Given the description of an element on the screen output the (x, y) to click on. 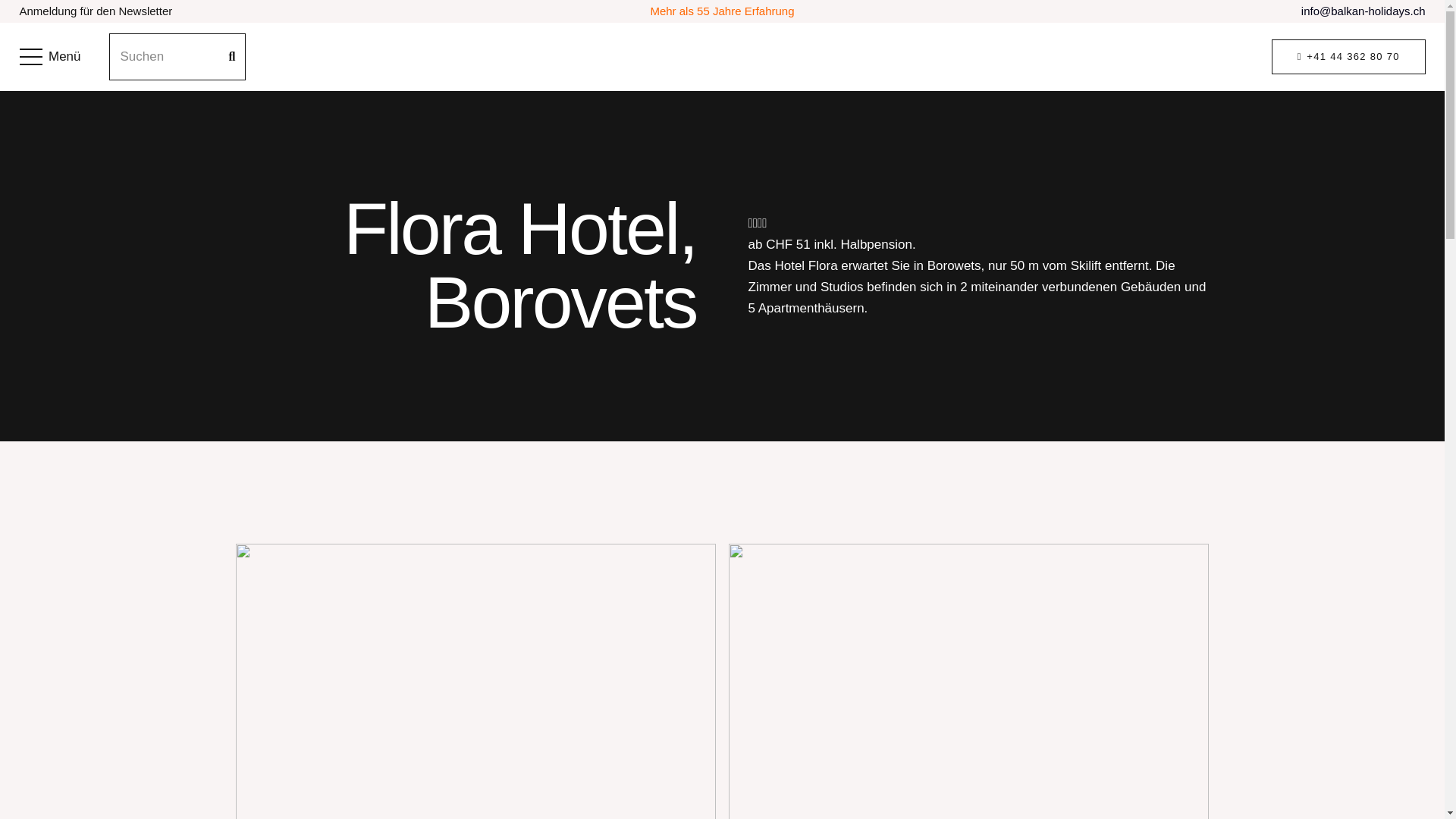
info@balkan-holidays.ch Element type: text (1363, 10)
+41 44 362 80 70 Element type: text (1348, 57)
